Given the description of an element on the screen output the (x, y) to click on. 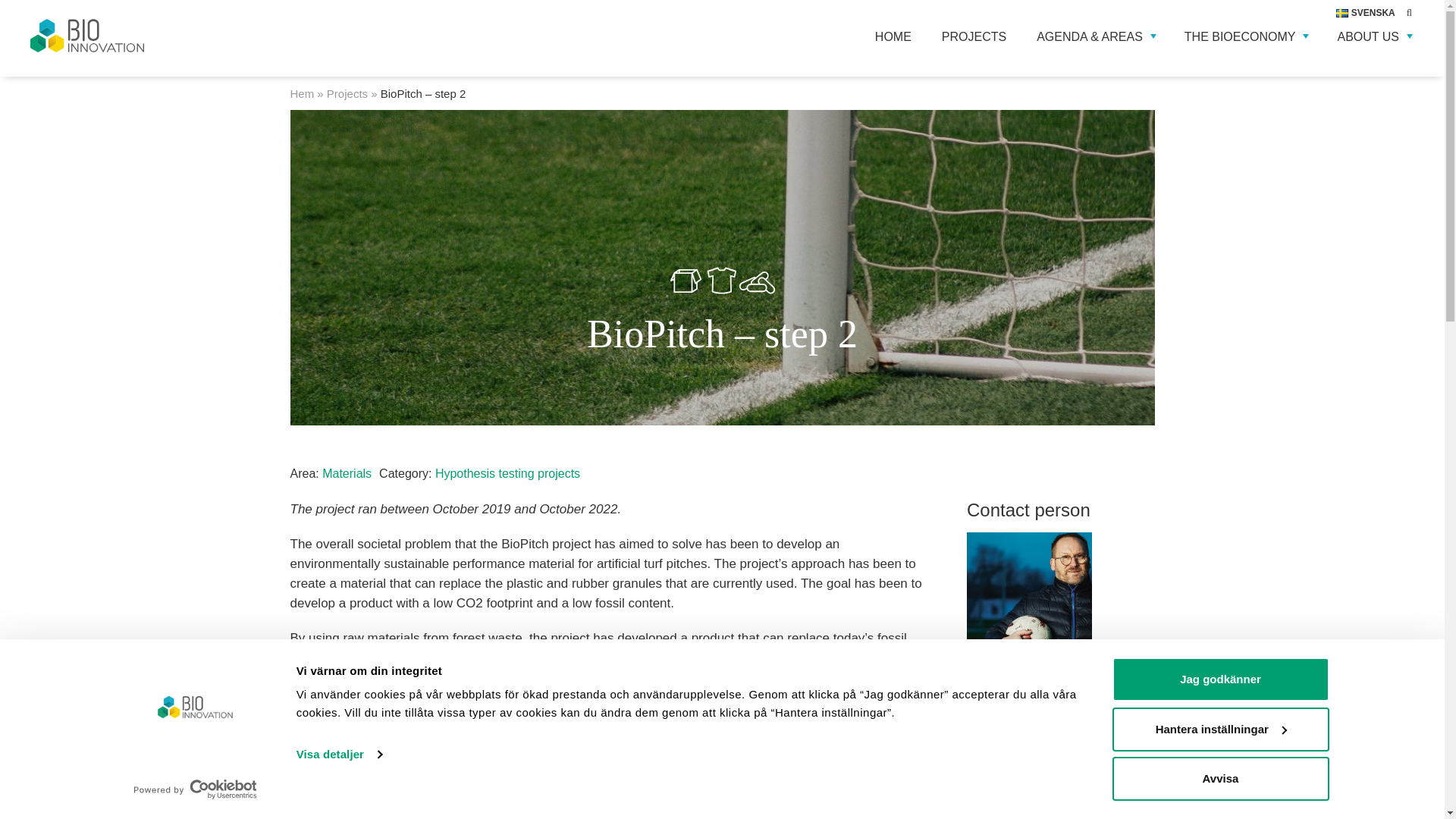
BioInnovation (135, 35)
Visa detaljer (339, 753)
